Given the description of an element on the screen output the (x, y) to click on. 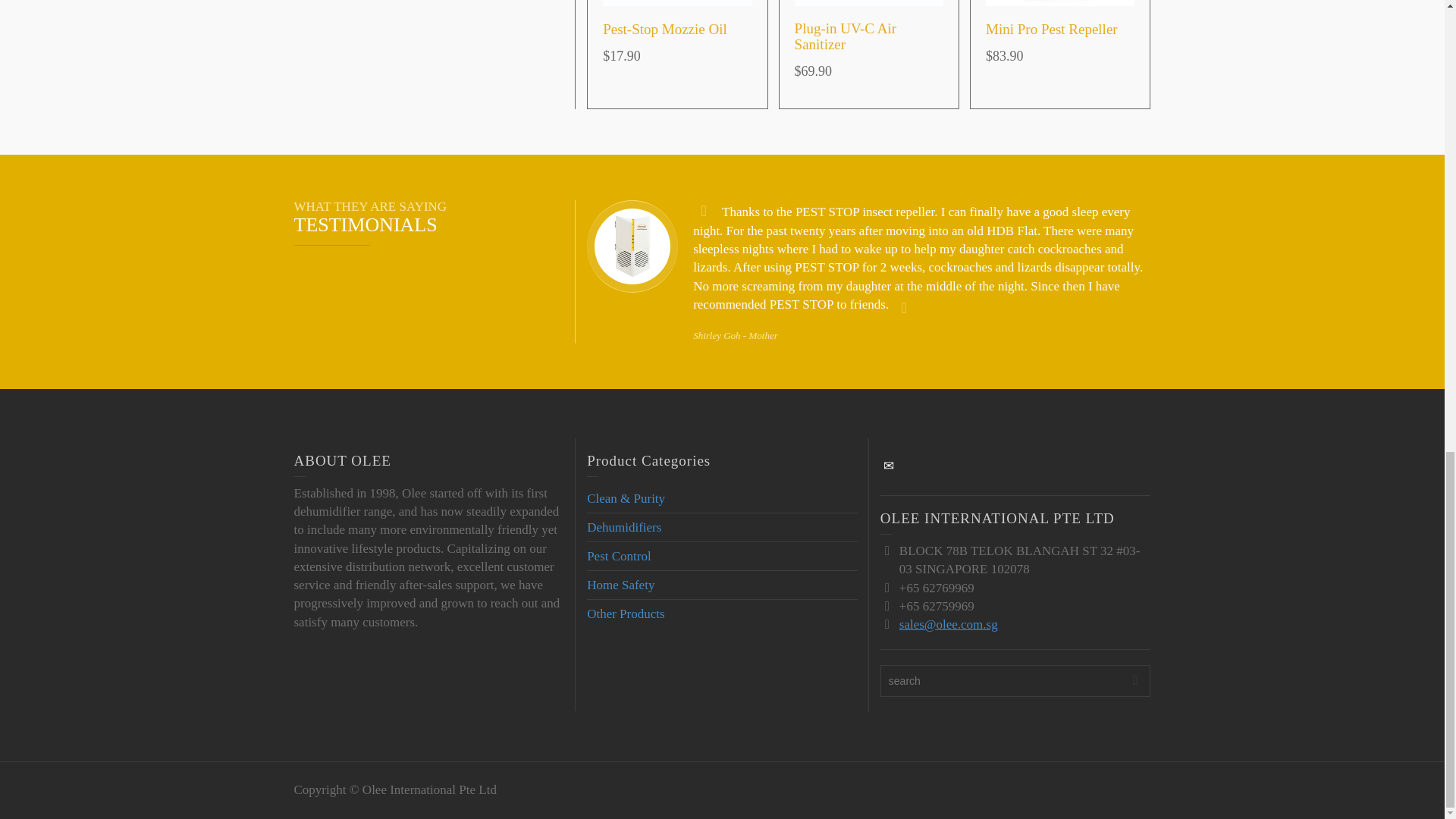
Dehumidifiers (623, 527)
Home Safety (619, 585)
Pest-Stop Mozzie Oil (664, 28)
Other Products (624, 613)
Mini Pro Pest Repeller (1051, 28)
Pest Control (618, 555)
Plug-in UV-C Air Sanitizer (845, 36)
